Given the description of an element on the screen output the (x, y) to click on. 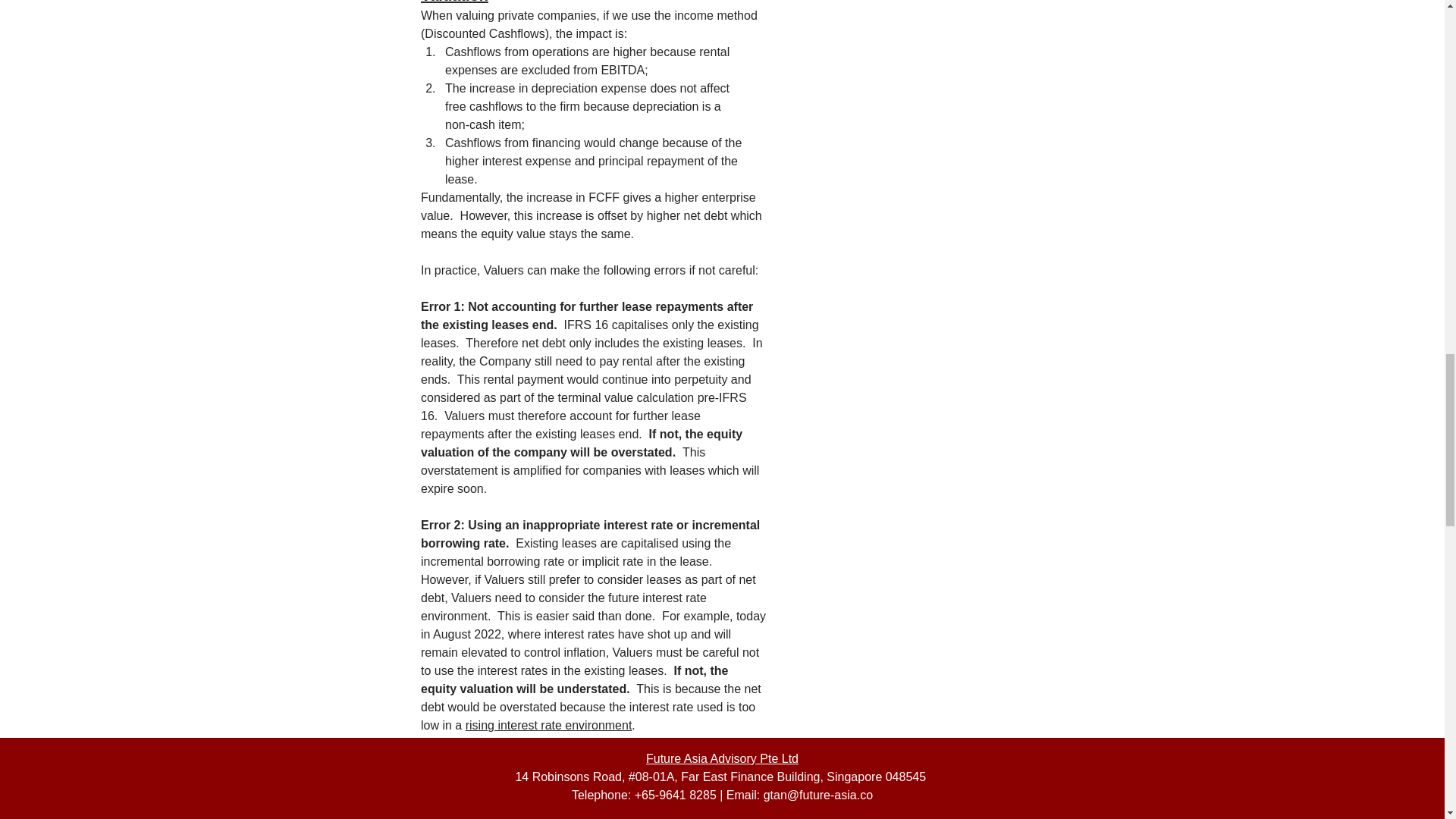
rising interest rate environment (547, 725)
